Given the description of an element on the screen output the (x, y) to click on. 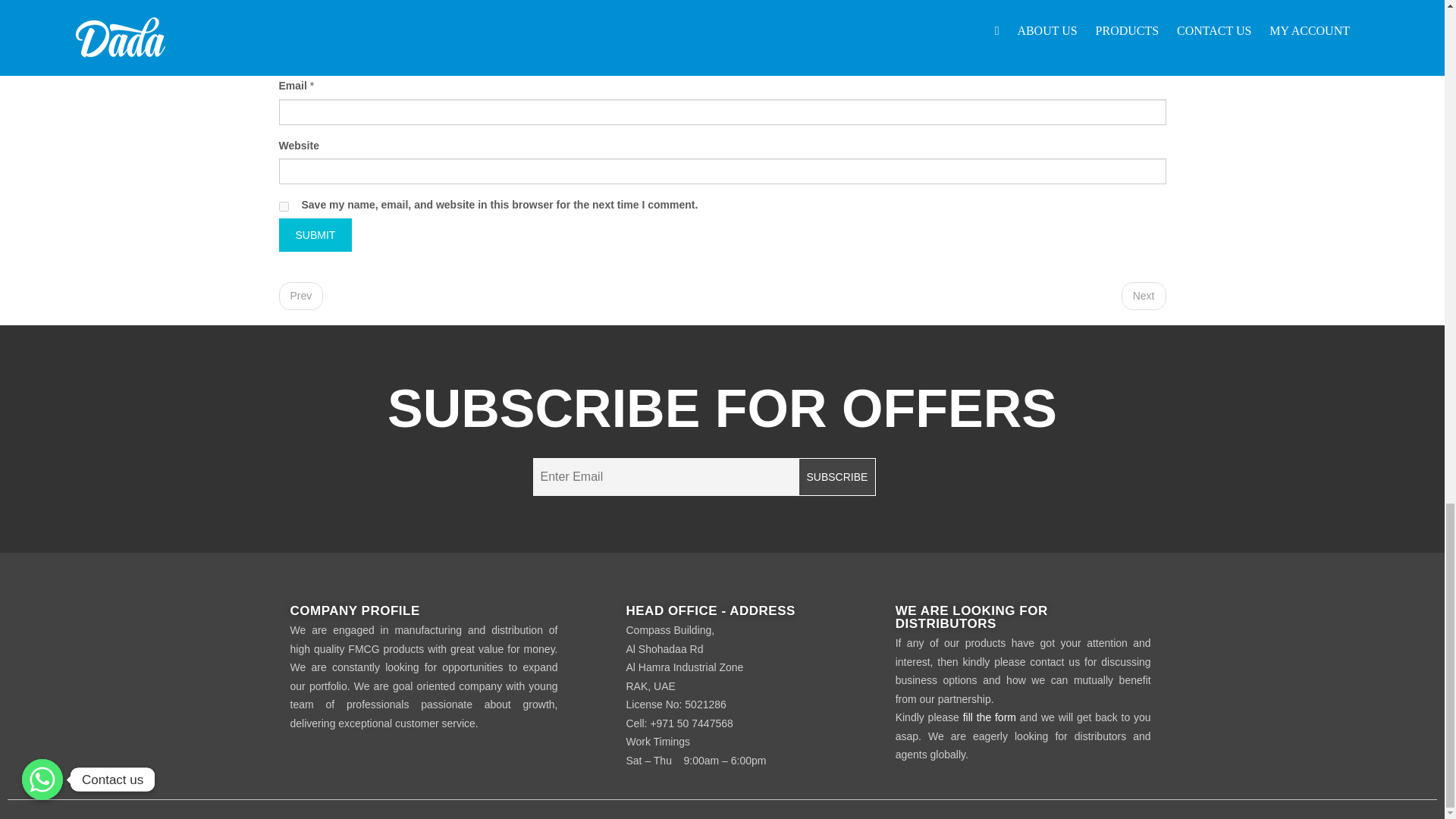
SUBSCRIBE (836, 476)
Submit (315, 235)
Next (1143, 295)
yes (283, 206)
fill the form (989, 717)
SUBSCRIBE (836, 476)
Prev (301, 295)
Submit (315, 235)
